Given the description of an element on the screen output the (x, y) to click on. 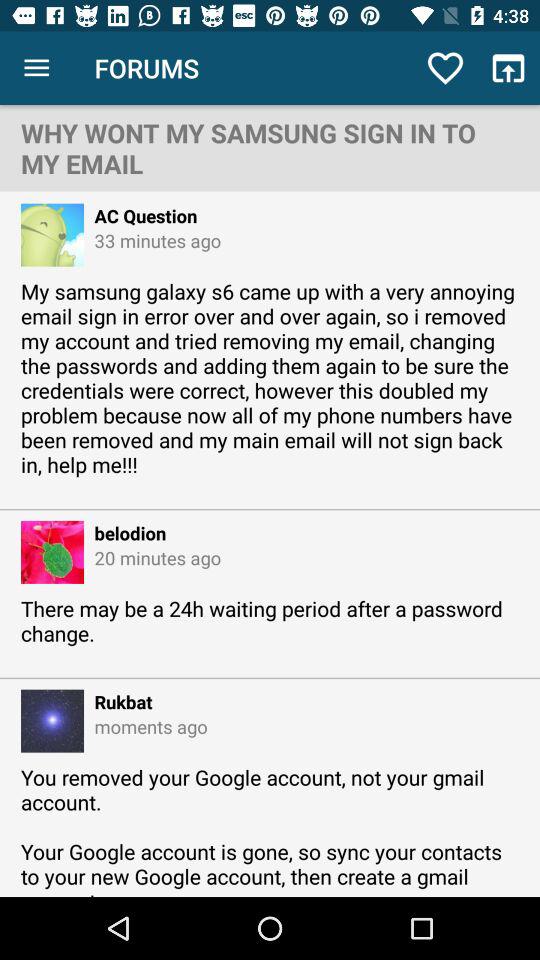
click icon below the there may be (118, 701)
